Given the description of an element on the screen output the (x, y) to click on. 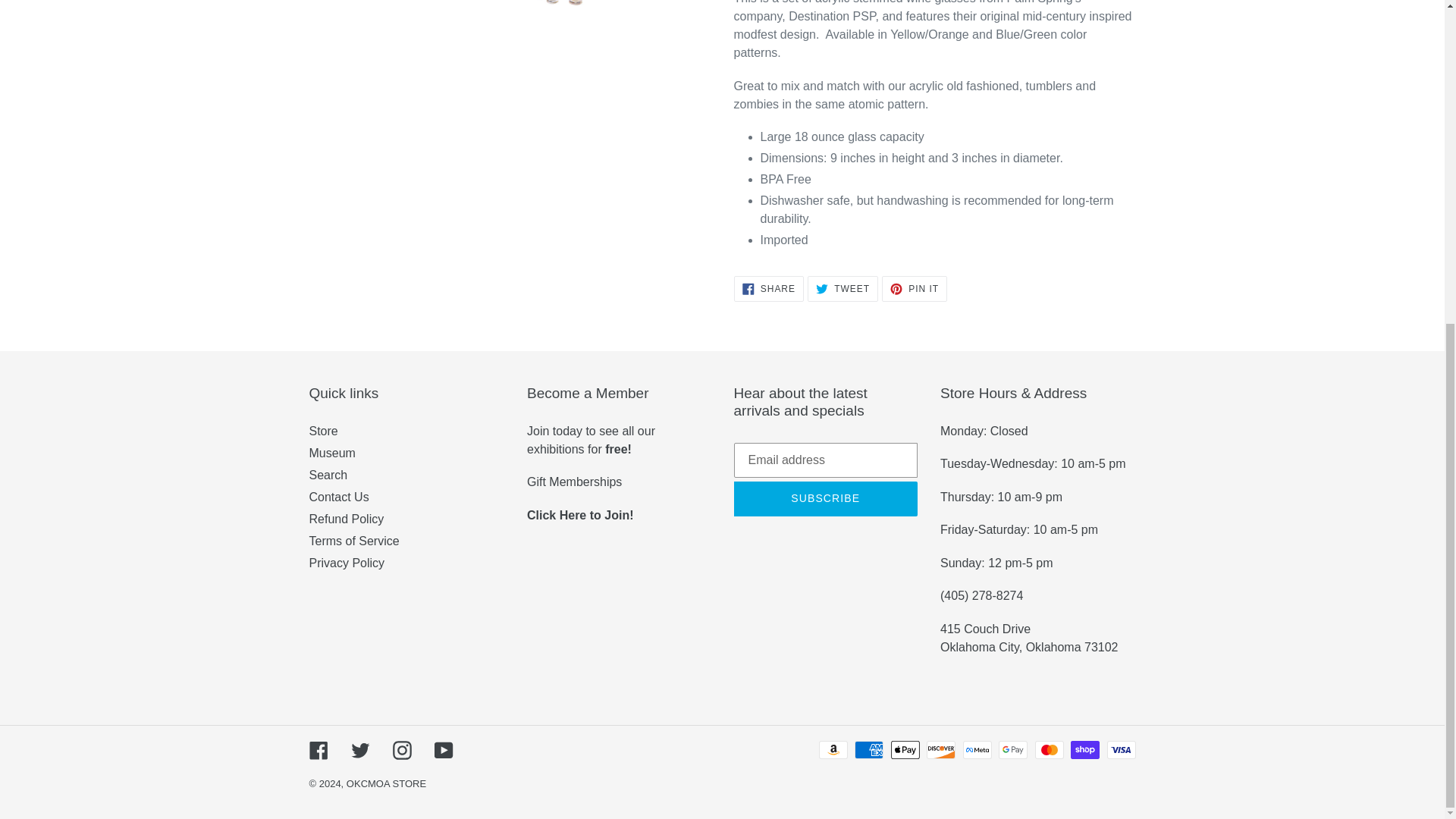
OKCMOA Gift Memberships (574, 481)
